Given the description of an element on the screen output the (x, y) to click on. 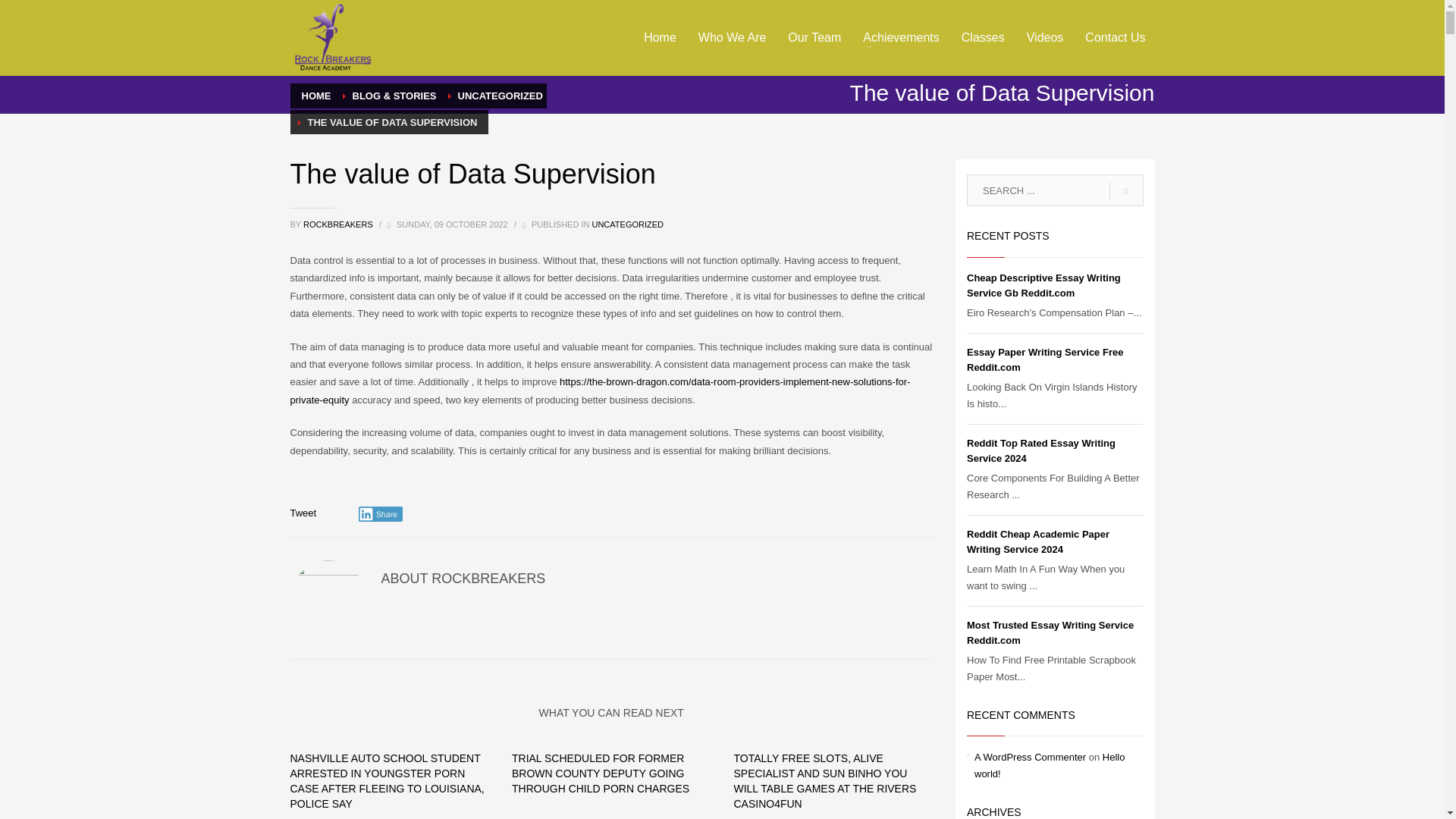
Who We Are (732, 37)
Reddit Cheap Academic Paper Writing Service 2024 (1037, 541)
ROCKBREAKERS (338, 224)
Tweet (302, 512)
Reddit Top Rated Essay Writing Service 2024 (1040, 450)
Classes (982, 37)
UNCATEGORIZED (500, 95)
A WordPress Commenter (1030, 756)
